Given the description of an element on the screen output the (x, y) to click on. 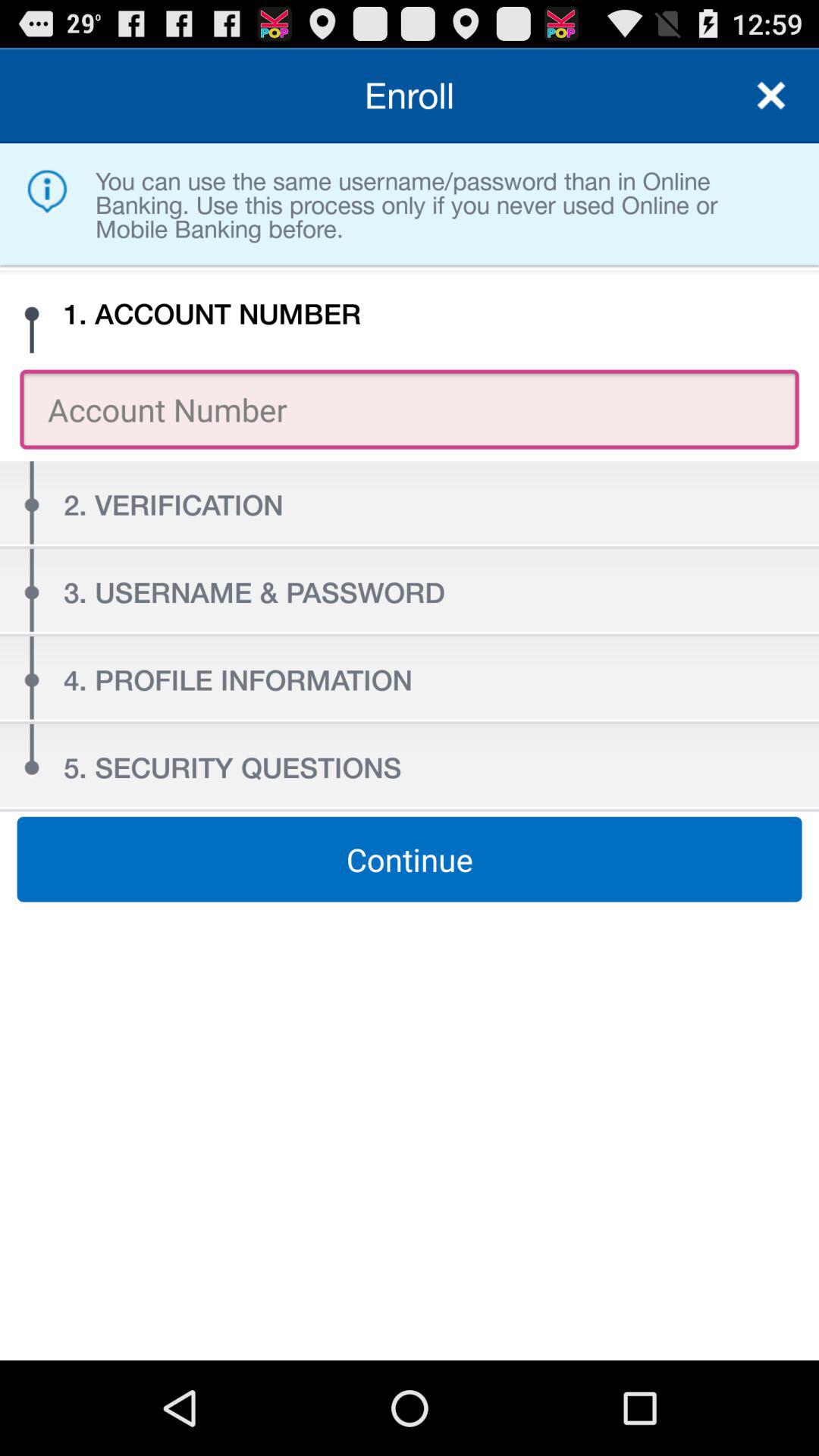
launch the item below the 1. account number icon (409, 409)
